Given the description of an element on the screen output the (x, y) to click on. 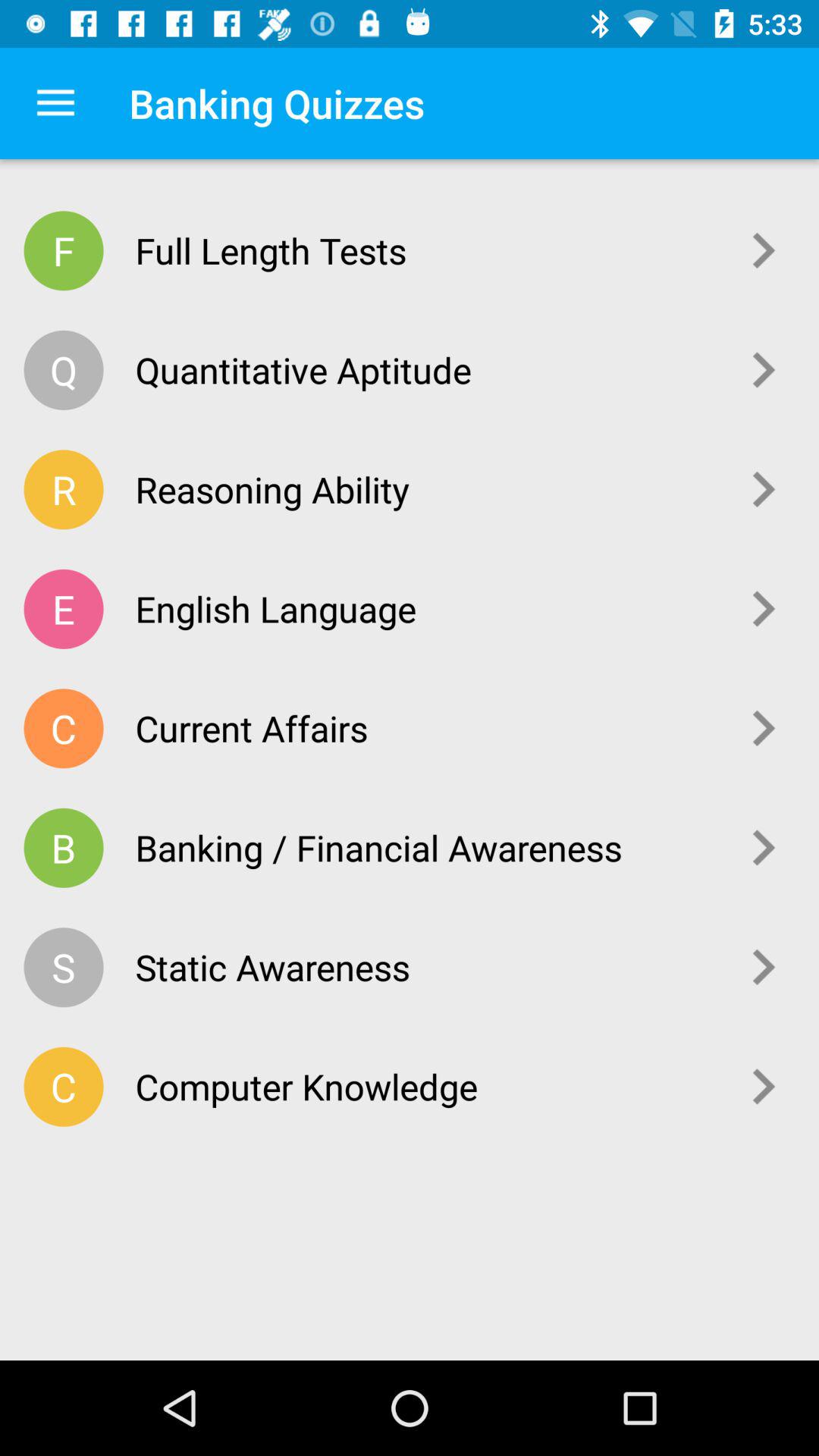
select icon next to full length tests (763, 250)
